Given the description of an element on the screen output the (x, y) to click on. 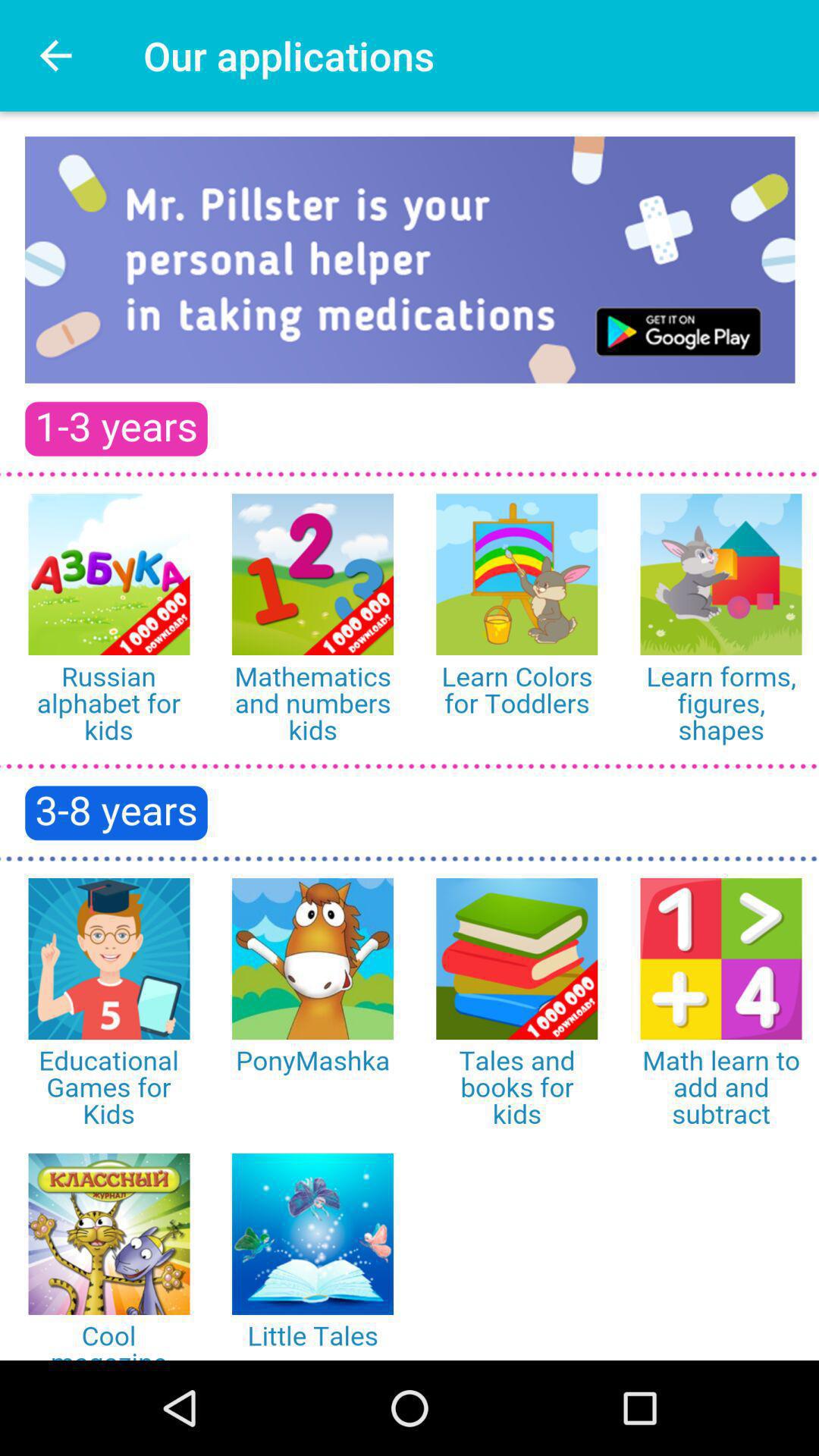
choose app (409, 735)
